Given the description of an element on the screen output the (x, y) to click on. 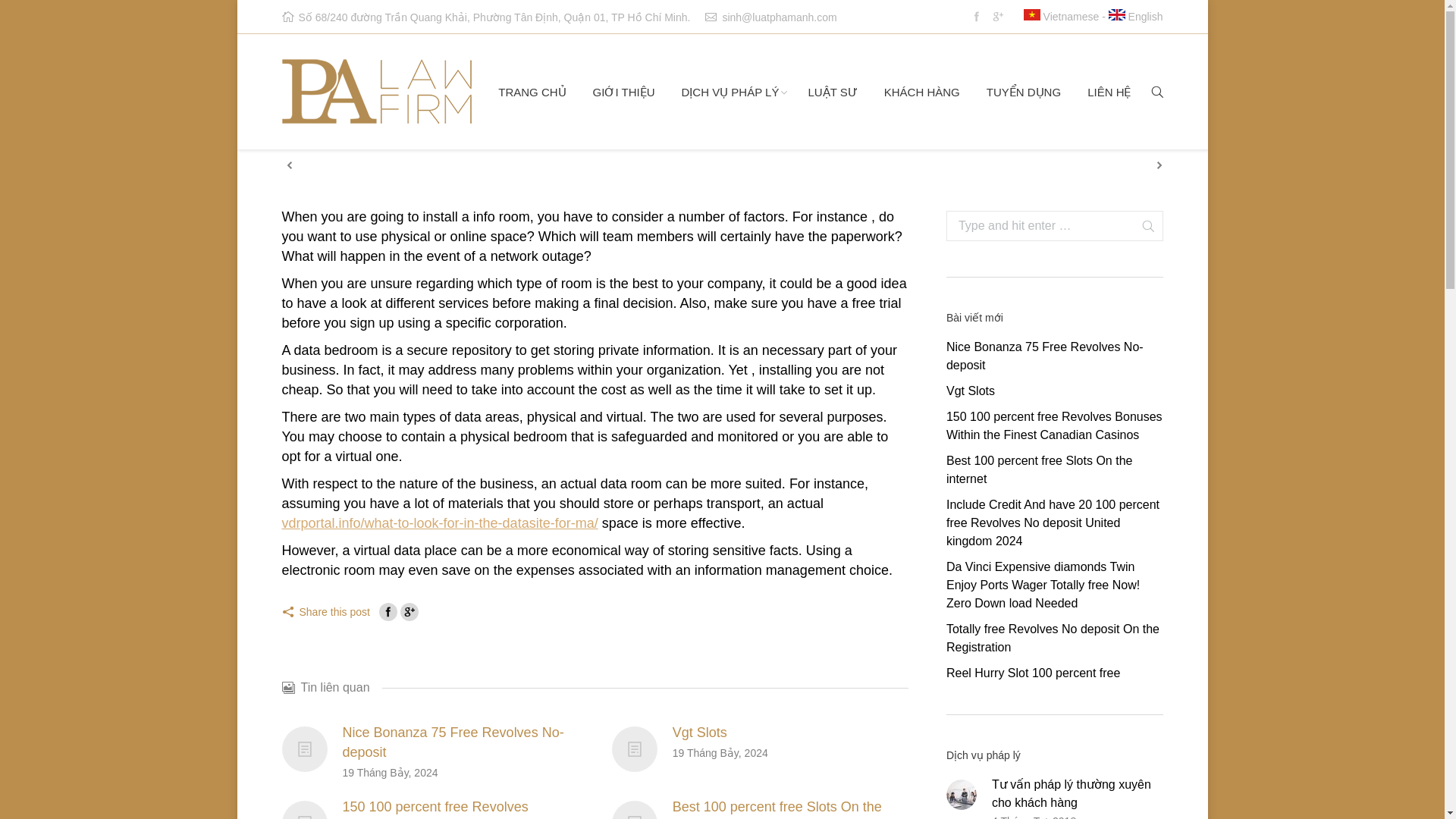
Facebook (387, 611)
English (1135, 16)
Vietnamese (1061, 16)
Go! (1142, 225)
Go! (1142, 225)
Facebook (976, 16)
